Given the description of an element on the screen output the (x, y) to click on. 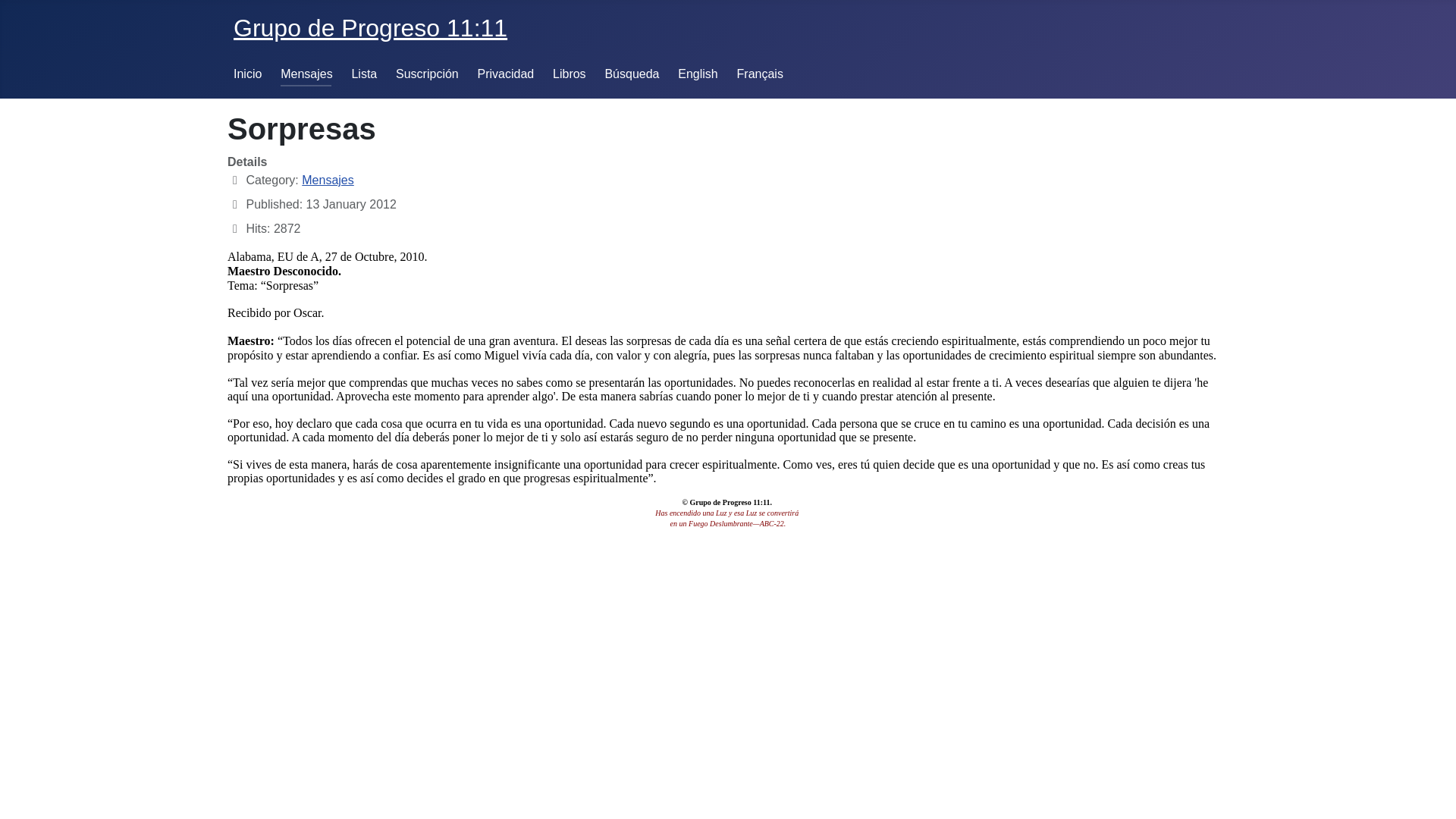
Mensajes Element type: text (327, 179)
Lista Element type: text (363, 73)
Mensajes Element type: text (306, 73)
Grupo de Progreso 11:11 Element type: text (370, 27)
Inicio Element type: text (247, 73)
English Element type: text (697, 73)
Libros Element type: text (569, 73)
Privacidad Element type: text (505, 73)
